Given the description of an element on the screen output the (x, y) to click on. 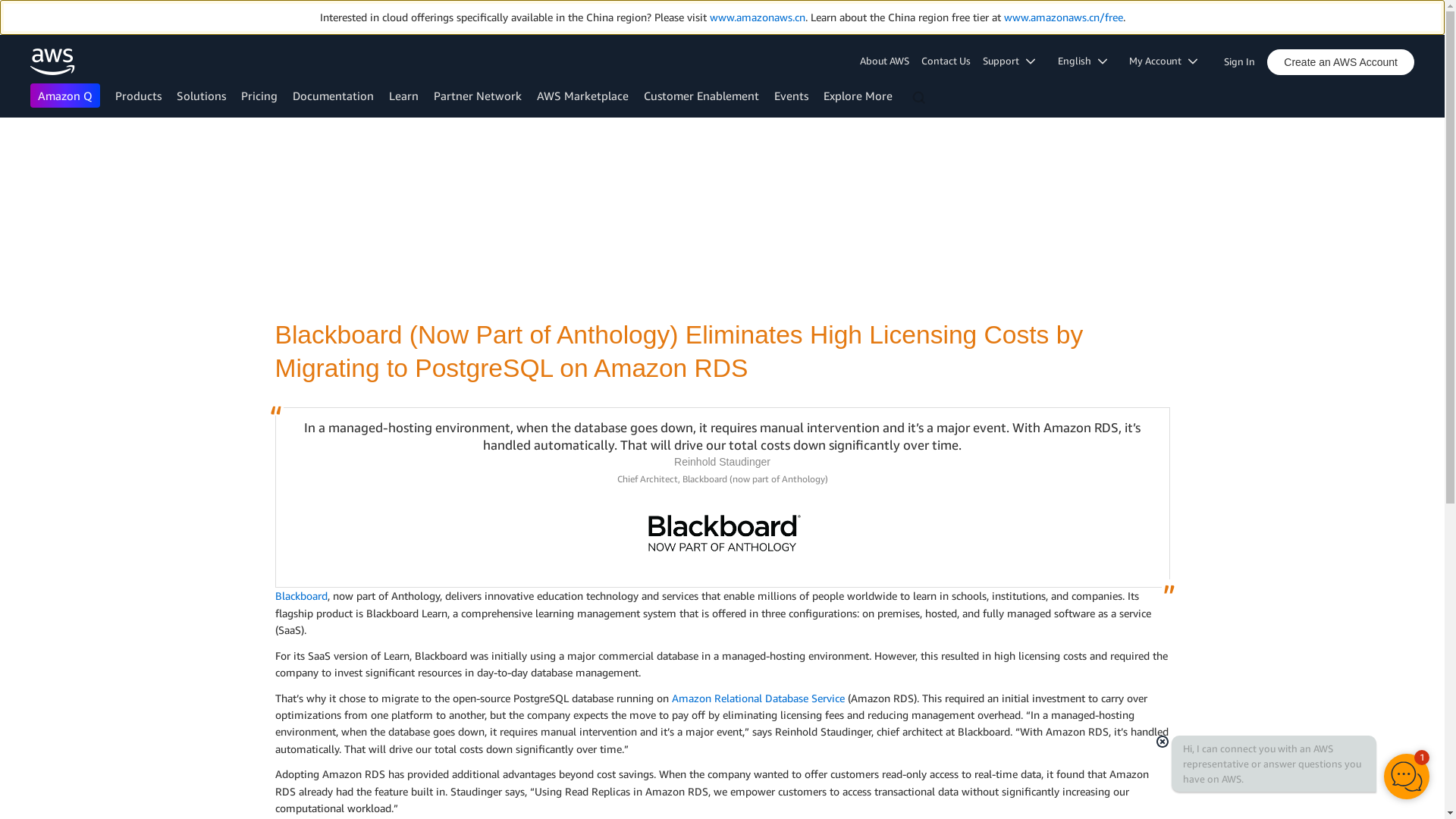
www.amazonaws.cn (757, 16)
Customer Enablement (700, 95)
Learn (403, 95)
Skip to main content (7, 146)
Create an AWS Account (1339, 62)
Amazon Q (65, 95)
English   (1087, 60)
Explore More (858, 95)
Sign In (1244, 58)
Click here to return to Amazon Web Services homepage (52, 61)
Support   (1013, 60)
Products (138, 95)
My Account   (1168, 60)
AWS Marketplace (582, 95)
Contact Us (945, 60)
